Given the description of an element on the screen output the (x, y) to click on. 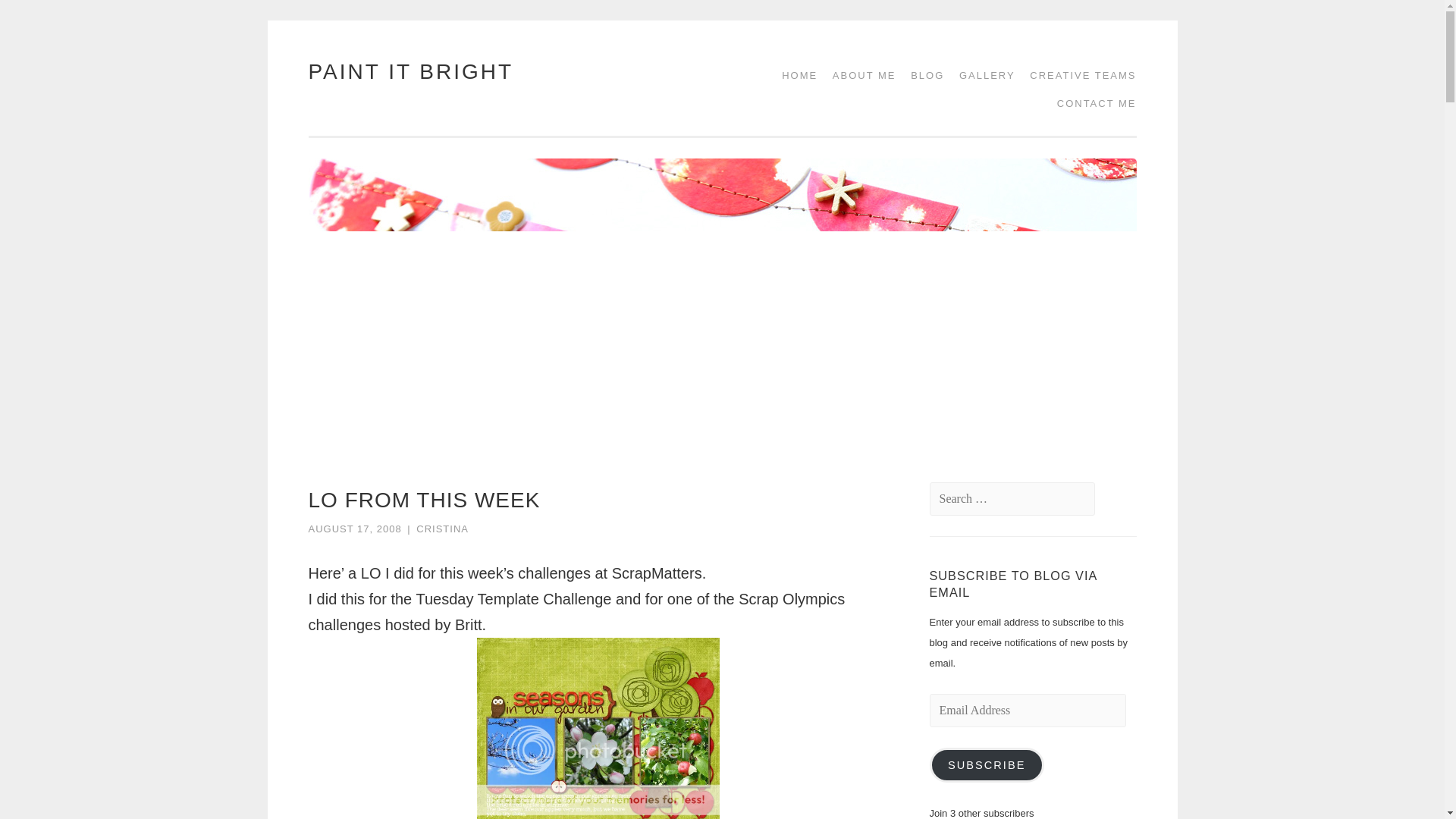
BLOG (921, 75)
ABOUT ME (859, 75)
CONTACT ME (1091, 103)
Search (42, 16)
CREATIVE TEAMS (1077, 75)
HOME (793, 75)
AUGUST 17, 2008 (354, 528)
PAINT IT BRIGHT (410, 71)
SUBSCRIBE (986, 764)
GALLERY (981, 75)
CRISTINA (442, 528)
